Given the description of an element on the screen output the (x, y) to click on. 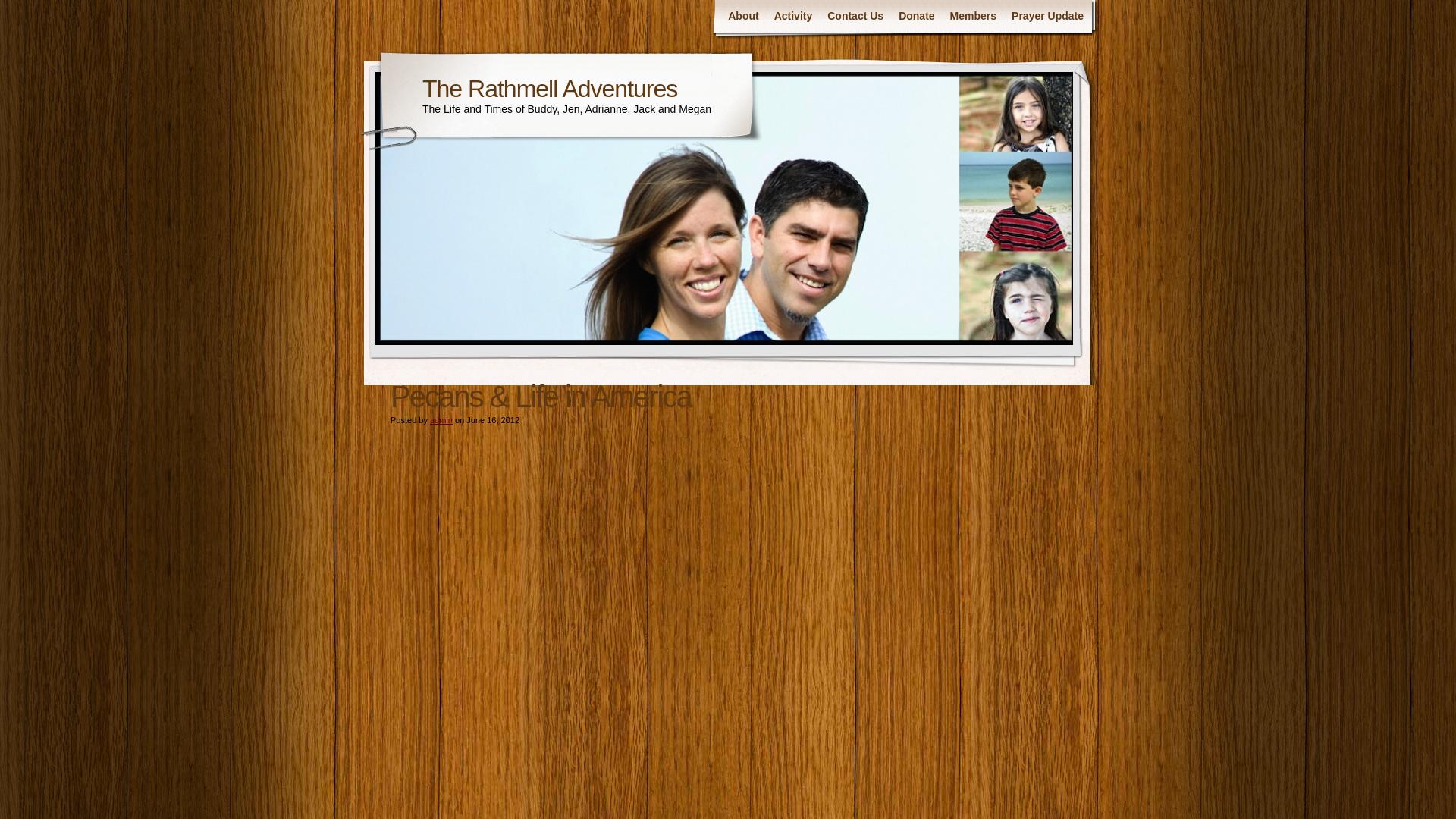
Contact Us (855, 16)
Members (973, 16)
The Rathmell Adventures (549, 87)
The Rathmell Adventures (549, 87)
Prayer Update (1047, 16)
Posts by admin (440, 420)
Activity (794, 16)
Donate (916, 16)
admin (440, 420)
About (742, 16)
